Given the description of an element on the screen output the (x, y) to click on. 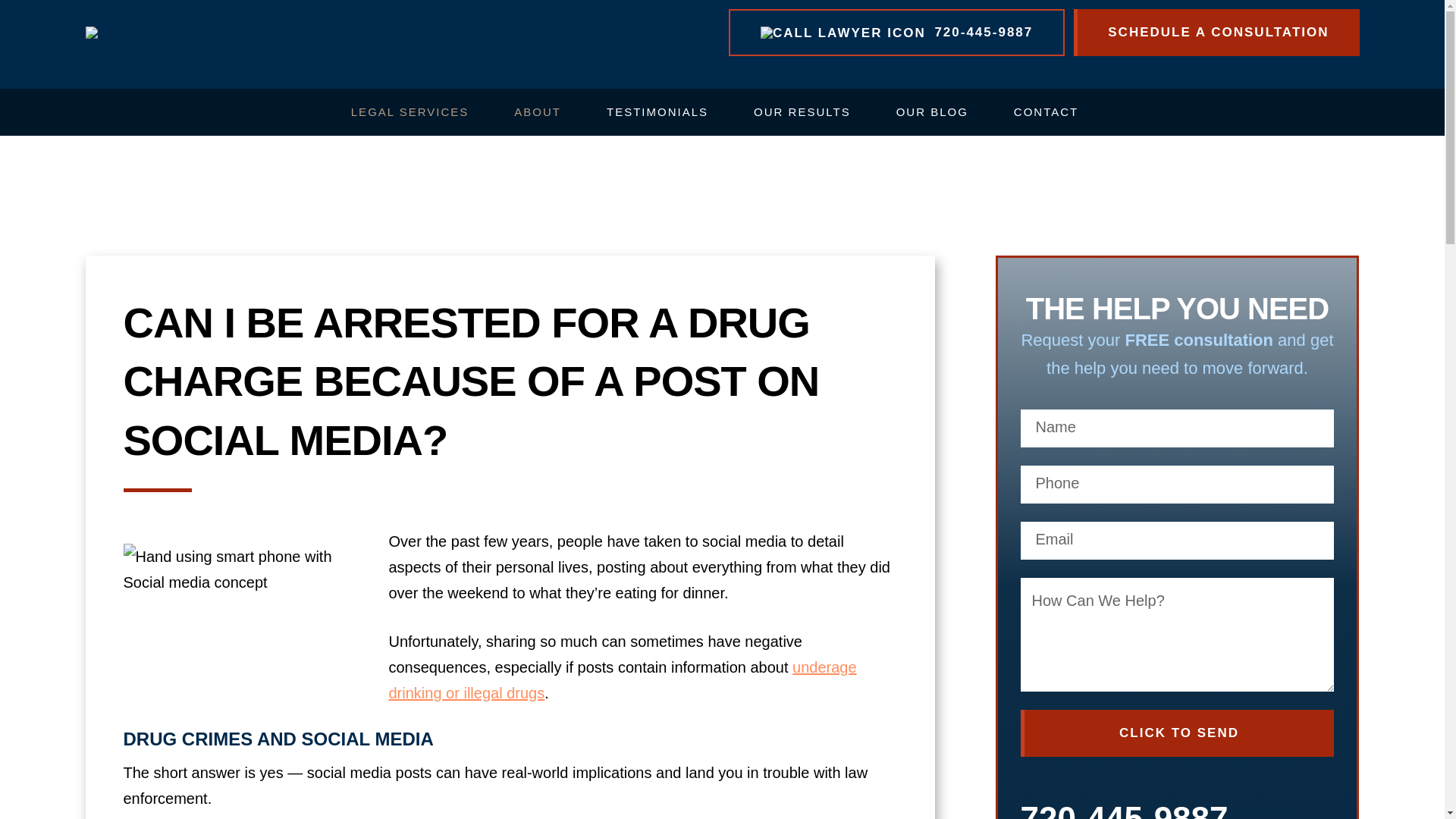
ABOUT (537, 111)
SCHEDULE A CONSULTATION (1216, 32)
TESTIMONIALS (656, 111)
OUR BLOG (932, 111)
LEGAL SERVICES (410, 111)
CLICK TO SEND (1177, 733)
720-445-9887 (896, 32)
OUR RESULTS (801, 111)
